Given the description of an element on the screen output the (x, y) to click on. 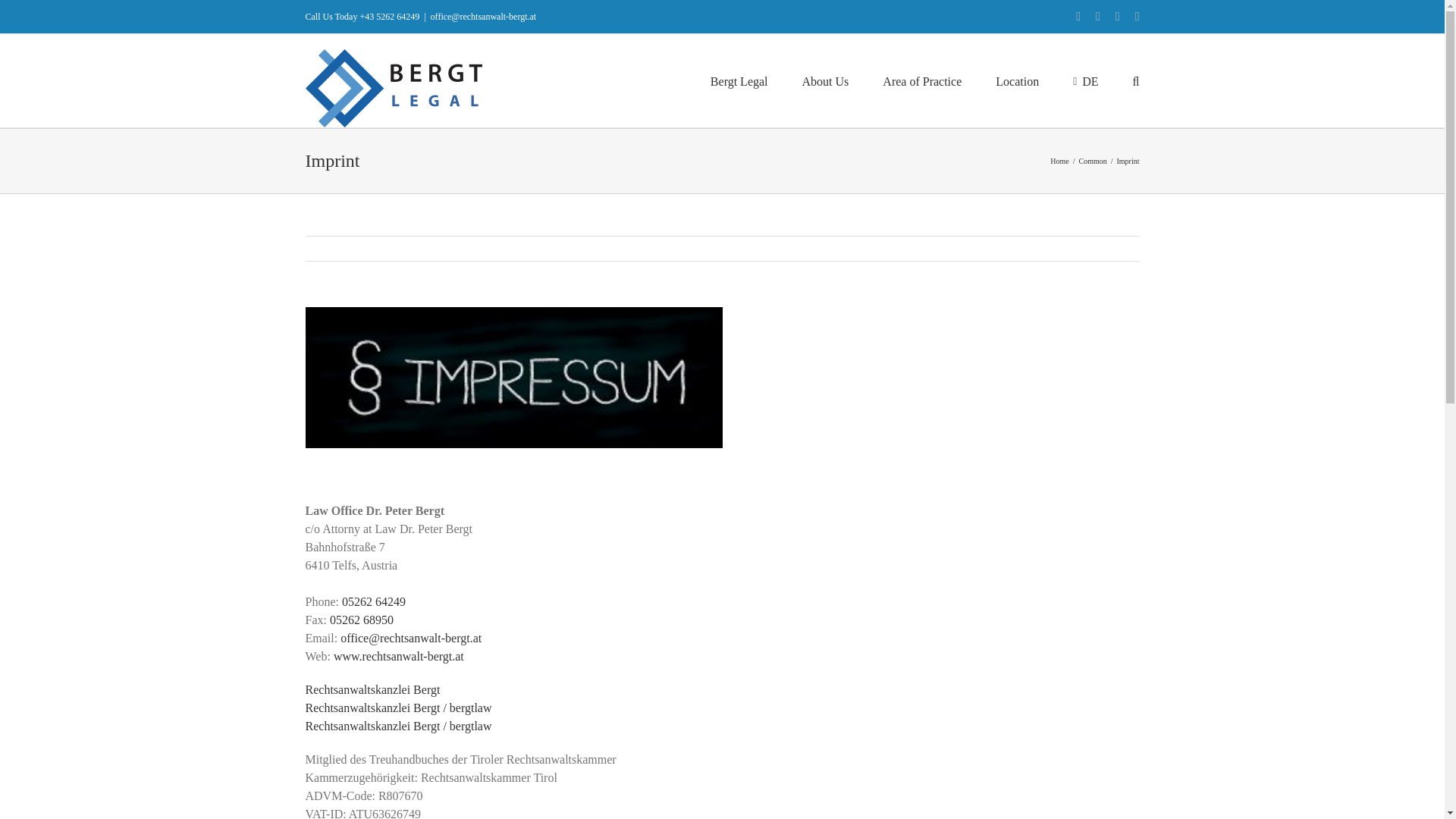
Xing (1117, 16)
LinkedIn (1098, 16)
View Larger Image (513, 377)
www.rechtsanwalt-bergt.at (398, 656)
Location (1017, 80)
Rechtsanwaltskanzlei Bergt (371, 689)
www.rechtsanwalt-bergt.at (398, 656)
Home (1058, 161)
05262 64249 (374, 601)
About Us (825, 80)
Area of Practice (921, 80)
Facebook (1077, 16)
Bergt Legal (739, 80)
DE (1085, 80)
